Given the description of an element on the screen output the (x, y) to click on. 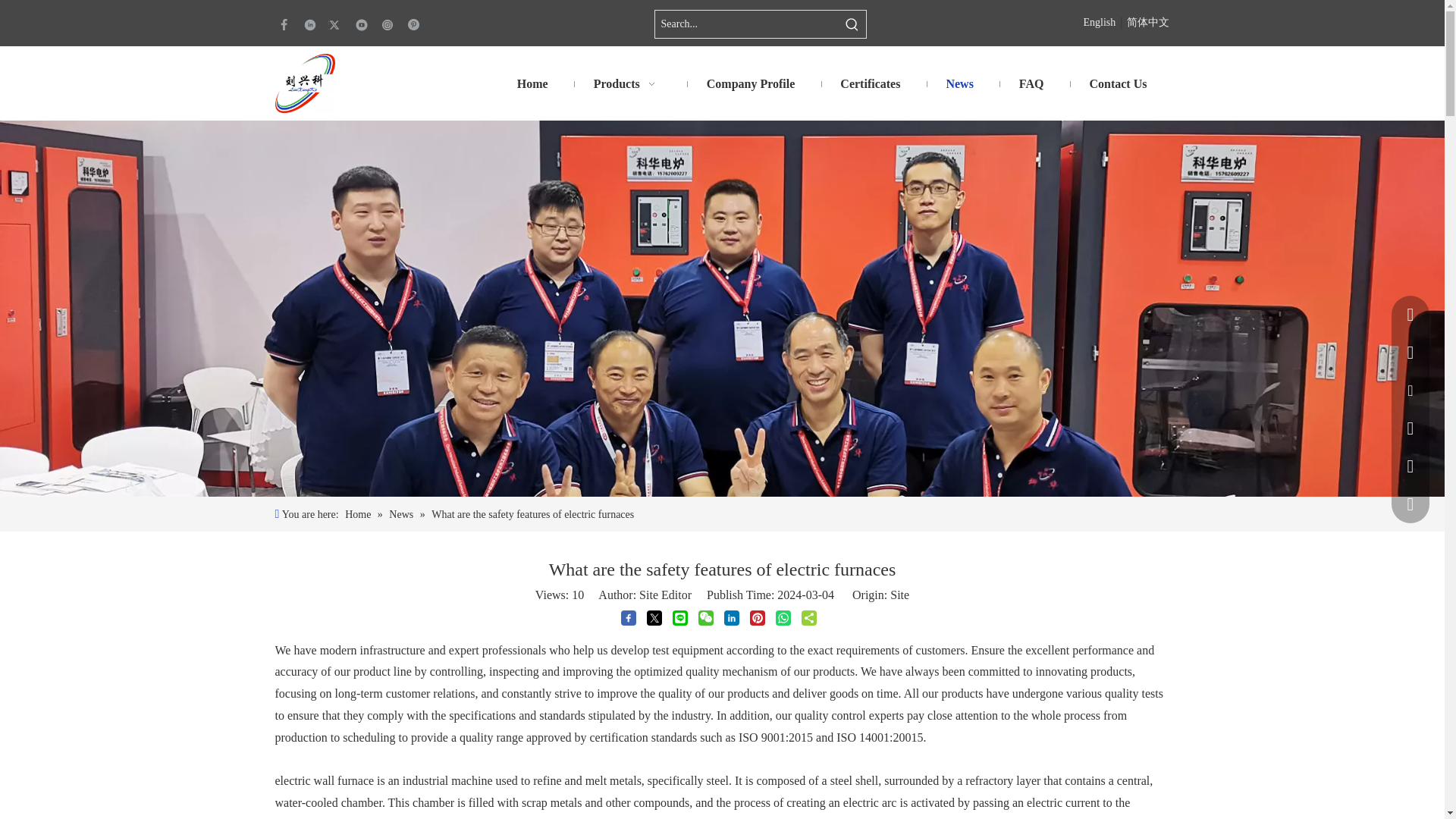
FAQ (1031, 84)
English (1099, 22)
Facebook (284, 24)
Pinterest (412, 24)
Youtube (361, 24)
Products   (627, 84)
Home (532, 84)
Certificates (869, 84)
Twitter (335, 24)
Company Profile (751, 84)
Instagram (386, 24)
News (959, 84)
Linkedin (308, 24)
Contact Us (1117, 84)
